Given the description of an element on the screen output the (x, y) to click on. 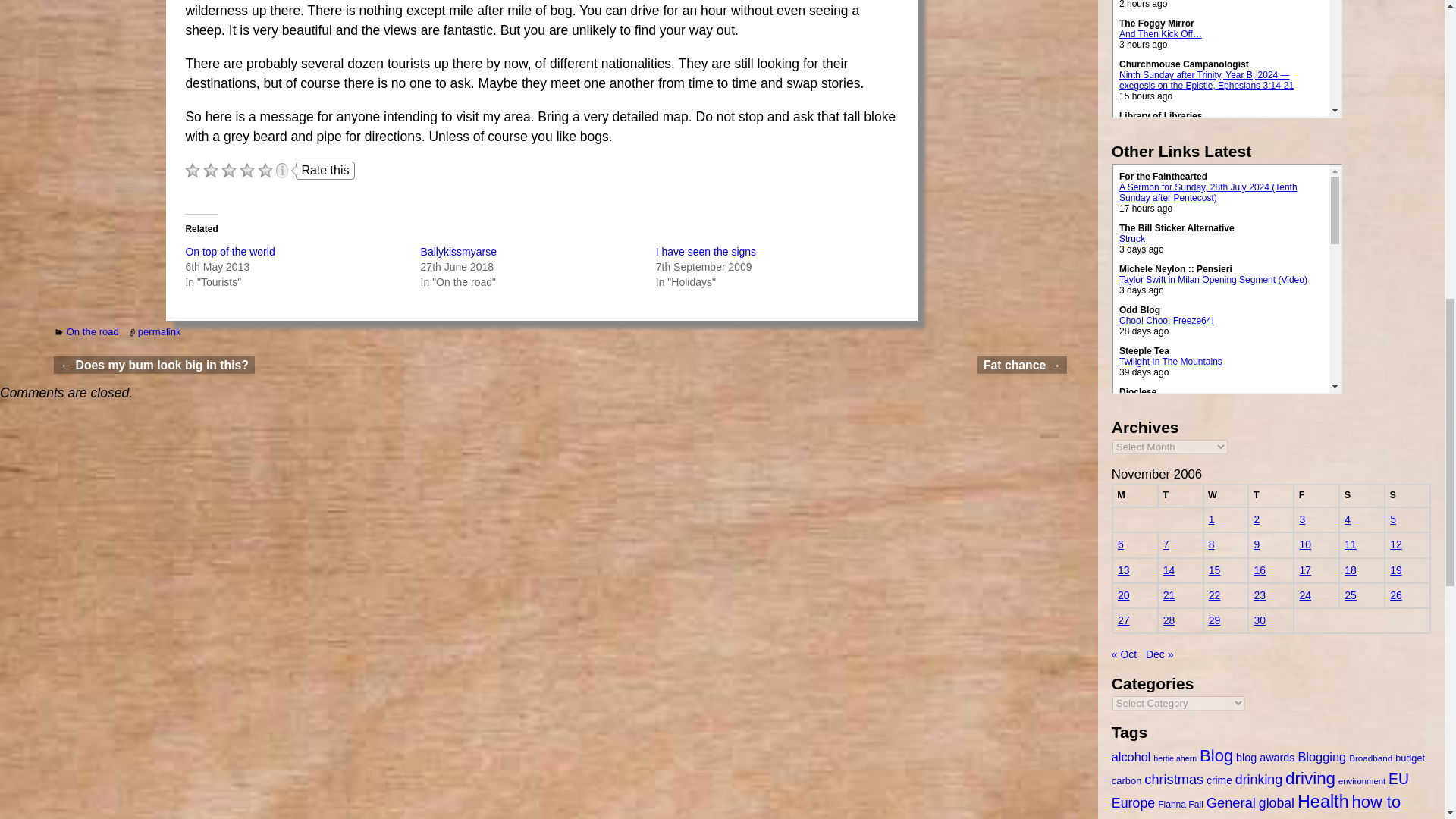
Friday (1316, 495)
On top of the world (229, 251)
Permalink to On the road to nowhere (159, 331)
On top of the world (229, 251)
Sunday (1406, 495)
Wednesday (1226, 495)
Saturday (1361, 495)
permalink (159, 331)
I have seen the signs (705, 251)
Ballykissmyarse (458, 251)
Monday (1134, 495)
Thursday (1270, 495)
I have seen the signs (705, 251)
Tuesday (1180, 495)
On the road (92, 331)
